Given the description of an element on the screen output the (x, y) to click on. 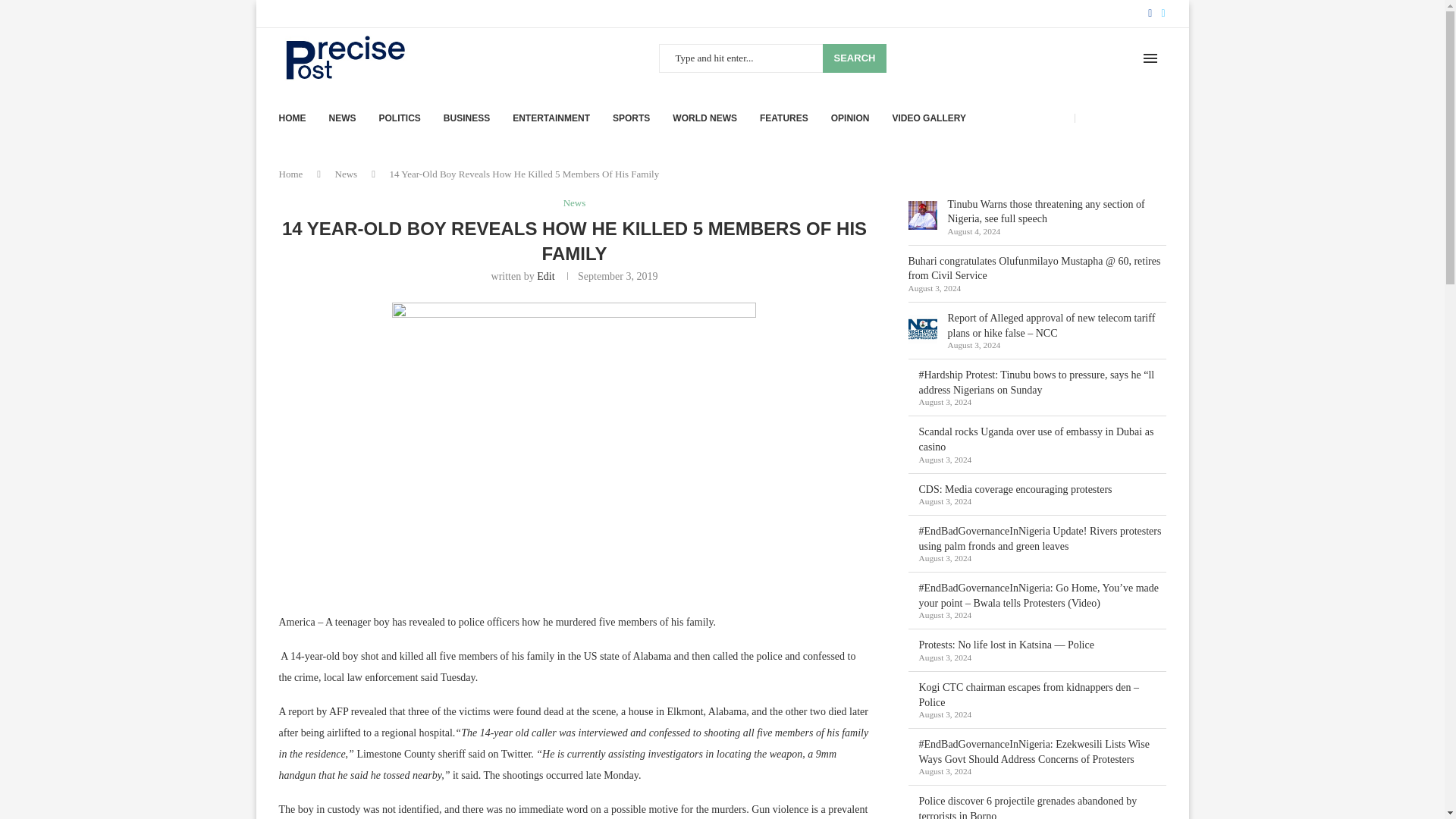
ENTERTAINMENT (550, 118)
TODAY HIGHLIGHT (1124, 117)
POLITICS (399, 118)
FEATURES (784, 118)
Gunman1 (573, 447)
BUSINESS (466, 118)
WORLD NEWS (704, 118)
SEARCH (854, 58)
VIDEO GALLERY (928, 118)
OFFER (1053, 117)
